Given the description of an element on the screen output the (x, y) to click on. 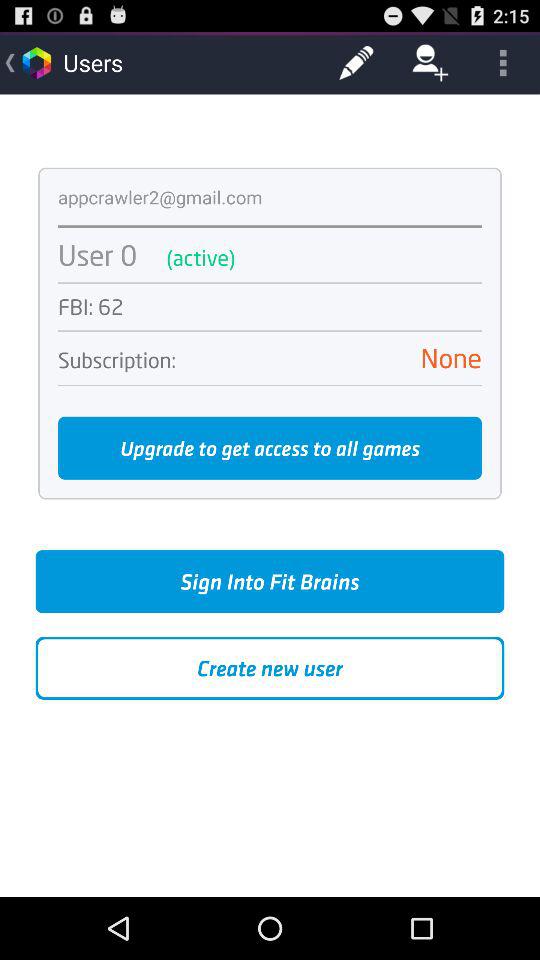
click icon above user 0 item (269, 226)
